Given the description of an element on the screen output the (x, y) to click on. 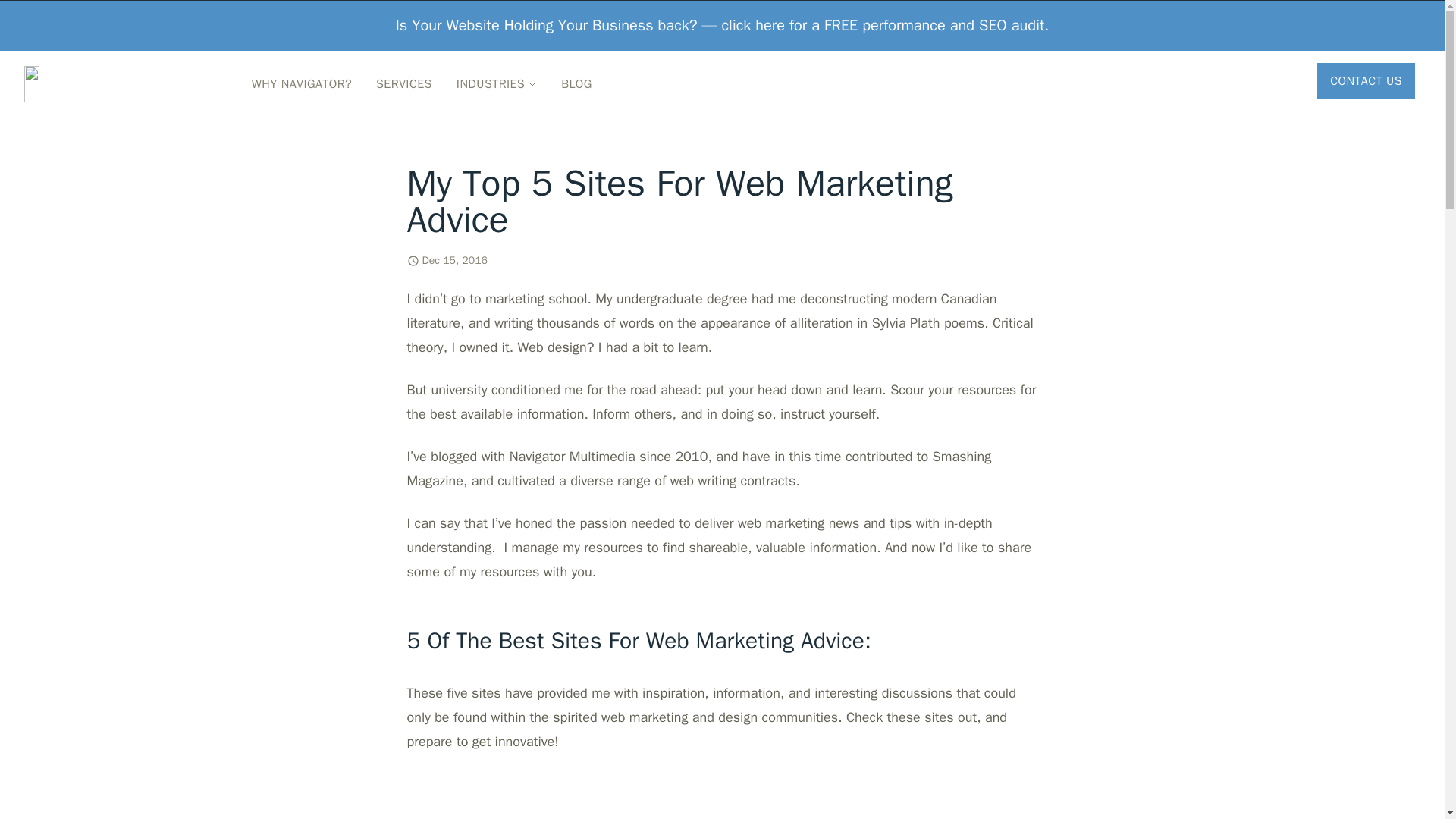
WHY NAVIGATOR? (302, 83)
December 15, 2016 (454, 260)
BLOG (576, 83)
navigator.ca (119, 83)
INDUSTRIES (496, 83)
SERVICES (403, 83)
click here for a FREE performance and SEO audit. (885, 25)
CONTACT US (1369, 83)
